Given the description of an element on the screen output the (x, y) to click on. 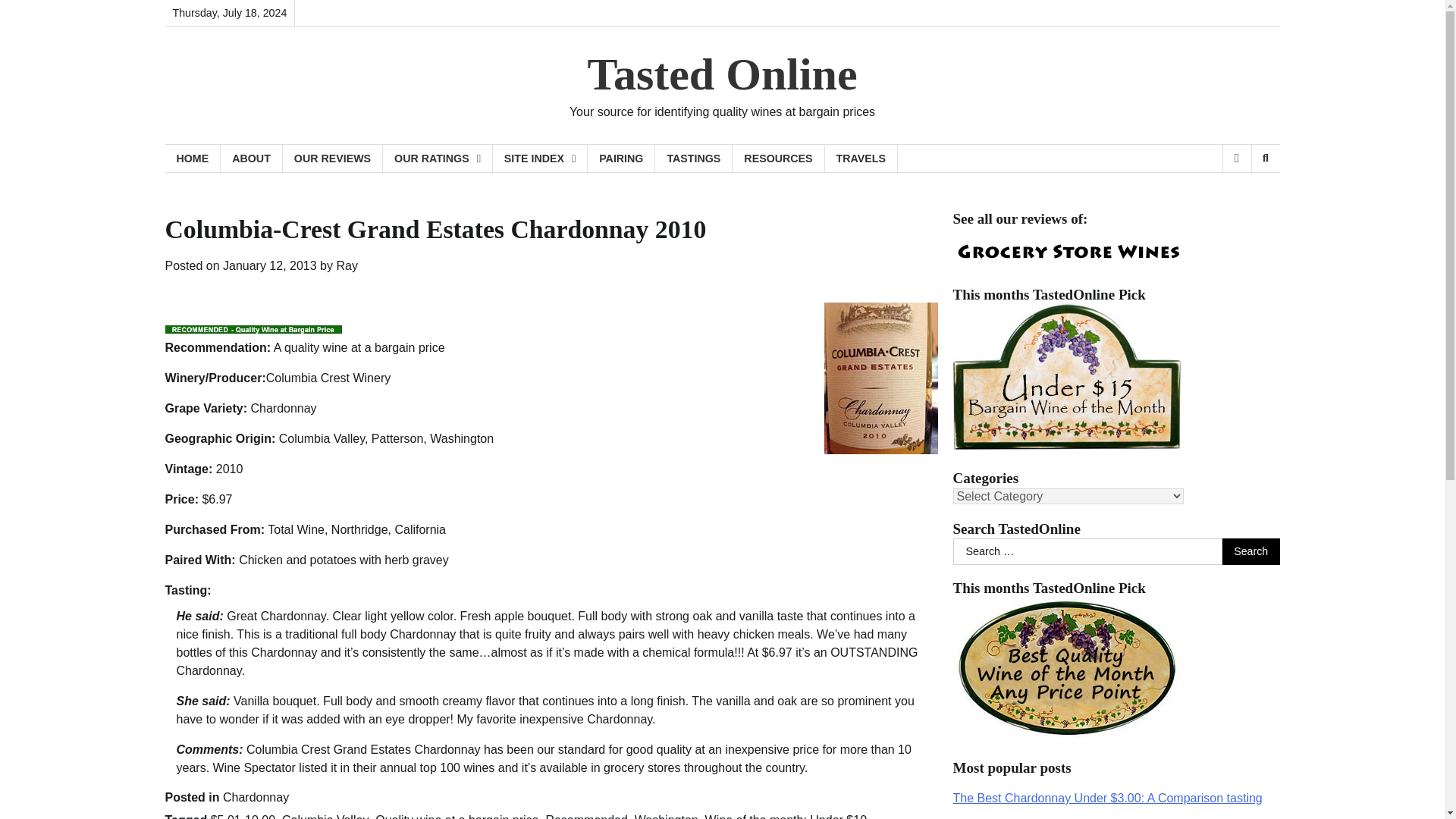
TRAVELS (861, 158)
How we rate the wines (437, 158)
RESOURCES (778, 158)
Recommended (585, 816)
SITE INDEX (540, 158)
Search (1264, 158)
OUR RATINGS (437, 158)
OUR REVIEWS (332, 158)
Travels of a wine blogger (861, 158)
Washington (666, 816)
PAIRING (621, 158)
Quality wine at a bargain price (456, 816)
HOME (193, 158)
January 12, 2013 (269, 265)
Tasted Online (721, 74)
